Given the description of an element on the screen output the (x, y) to click on. 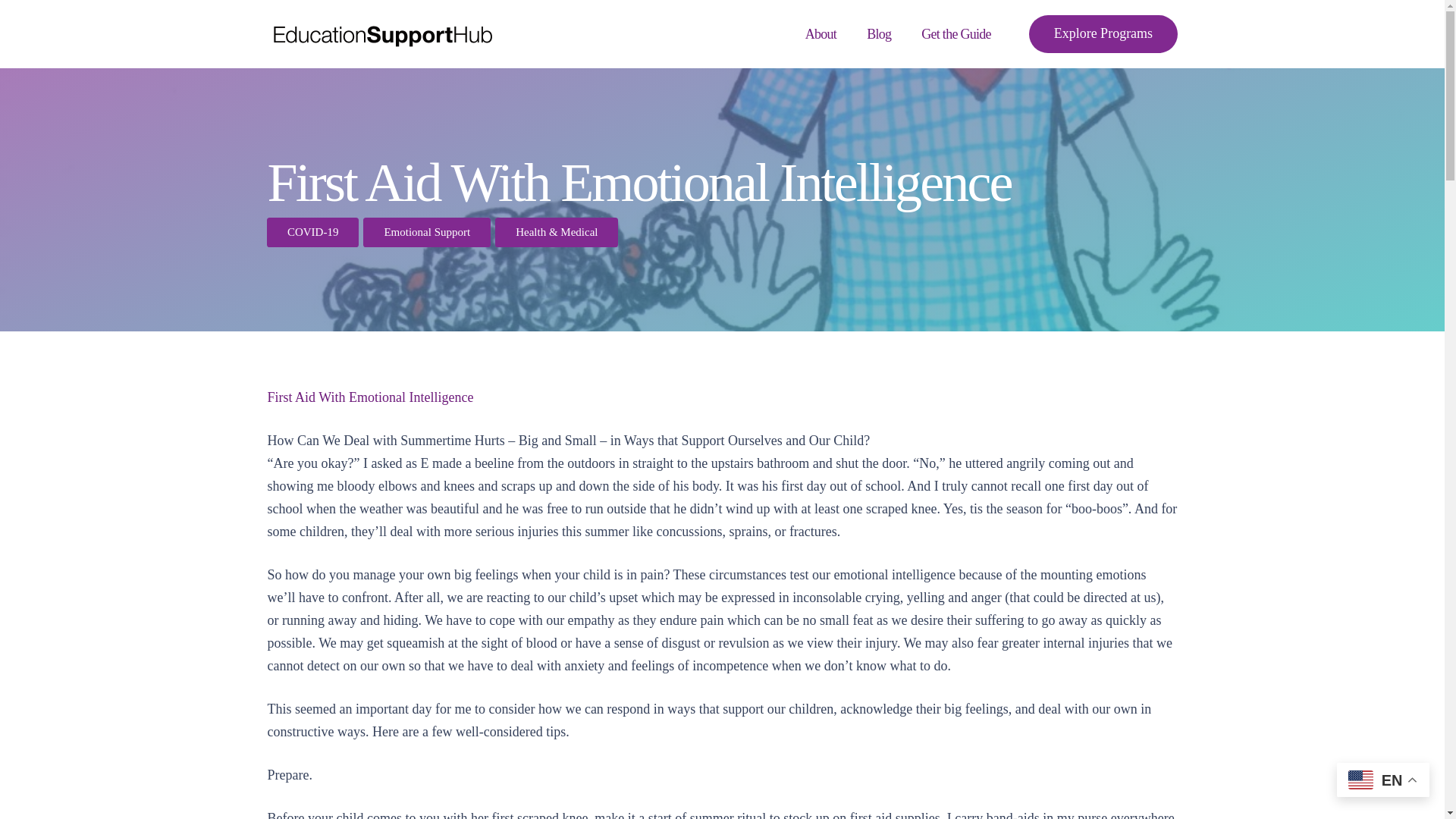
About (820, 33)
First Aid With Emotional Intelligence (369, 396)
Explore Programs (1102, 34)
Get the Guide (955, 33)
